Given the description of an element on the screen output the (x, y) to click on. 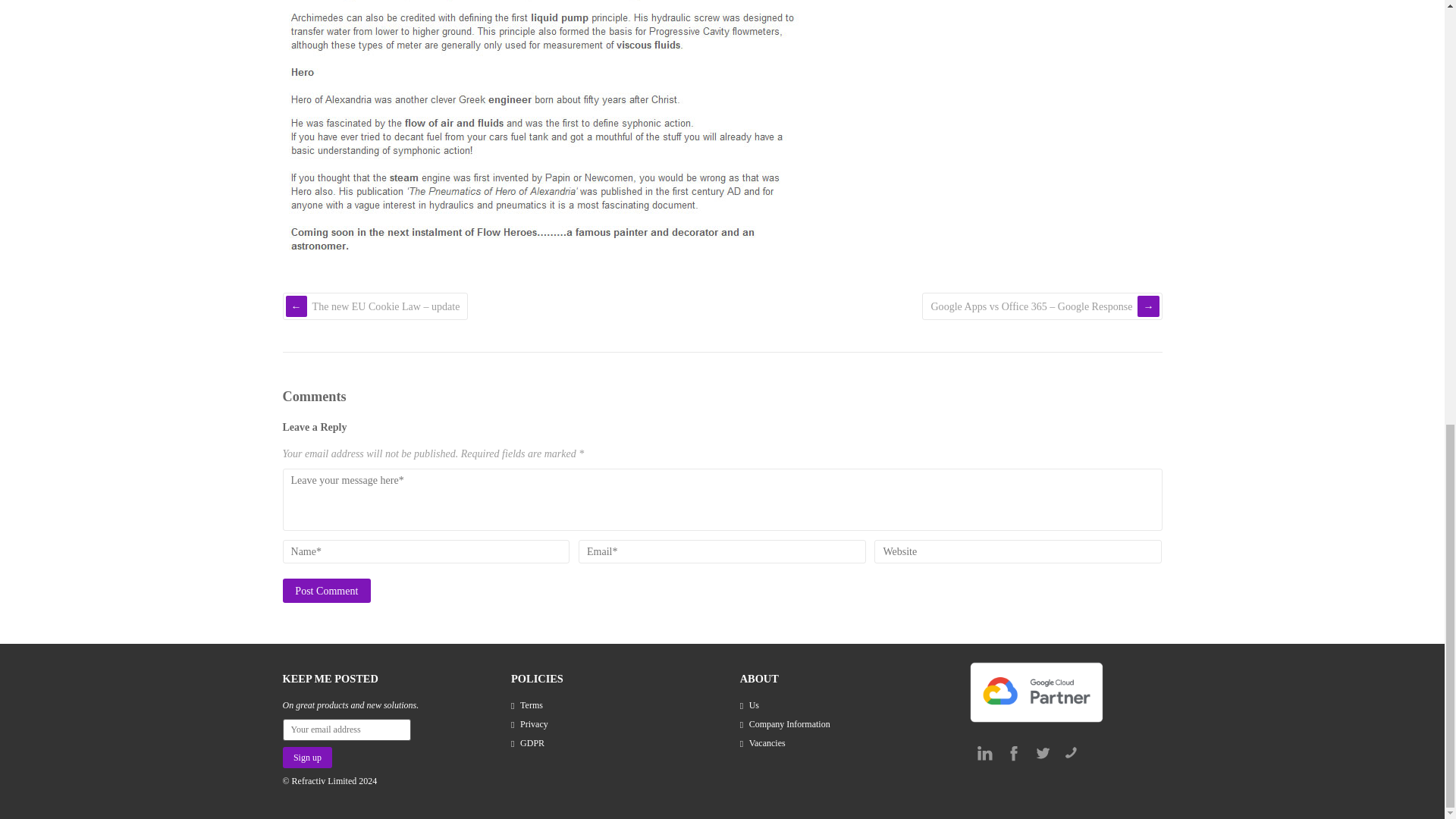
Yahoo (1071, 752)
Facebook (1013, 752)
Twitter (1042, 752)
LinkedIn (984, 752)
Post Comment (326, 590)
Sign up (306, 756)
